Given the description of an element on the screen output the (x, y) to click on. 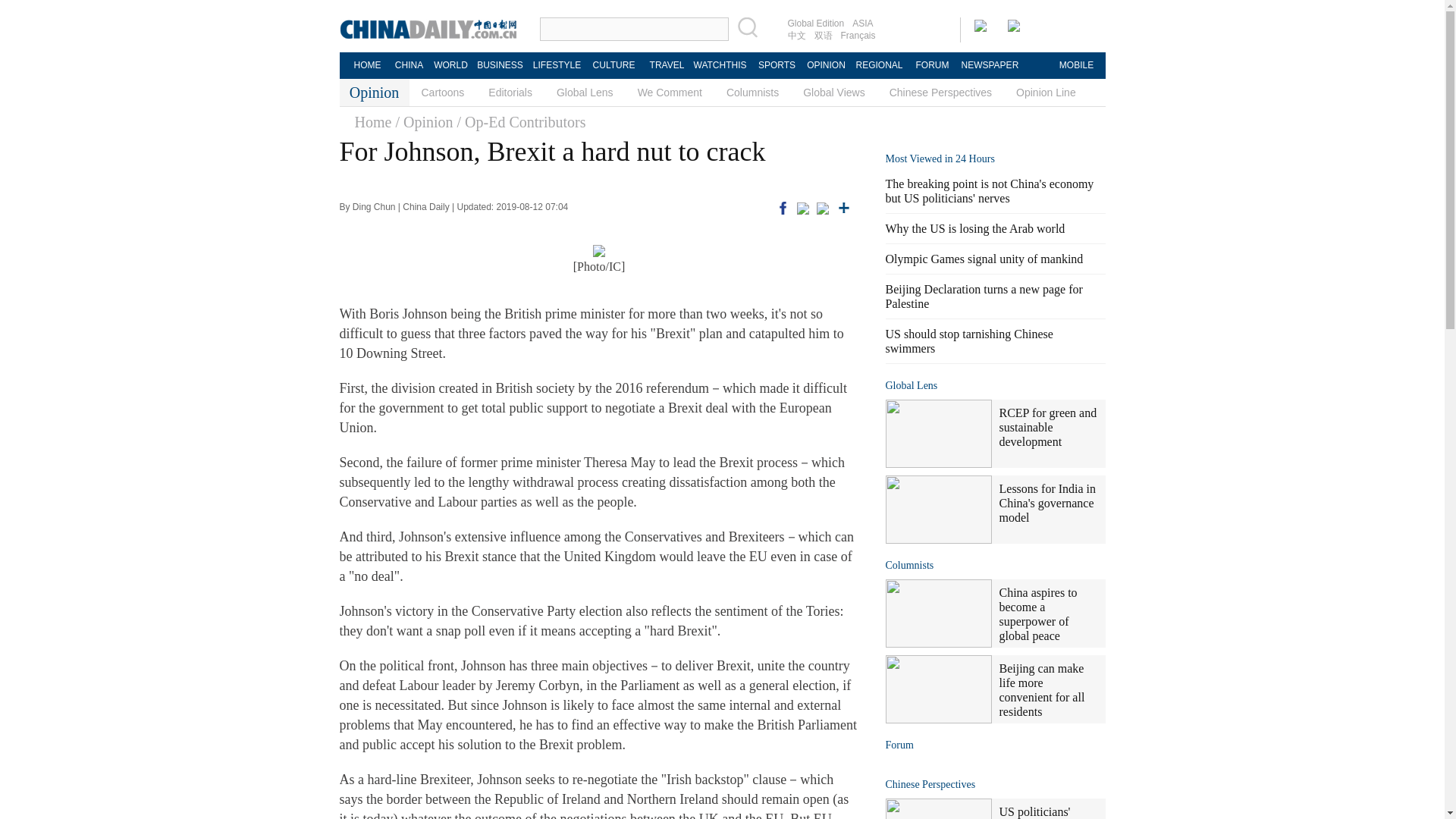
TRAVEL (666, 65)
WORLD (451, 65)
FORUM (931, 65)
WATCHTHIS (719, 65)
OPINION (825, 65)
REGIONAL (878, 65)
SPORTS (777, 65)
CHINA (408, 65)
CULTURE (613, 65)
ASIA (862, 23)
LIFESTYLE (557, 65)
NEWSPAPER (988, 65)
HOME (367, 65)
BUSINESS (499, 65)
Global Edition (816, 23)
